Given the description of an element on the screen output the (x, y) to click on. 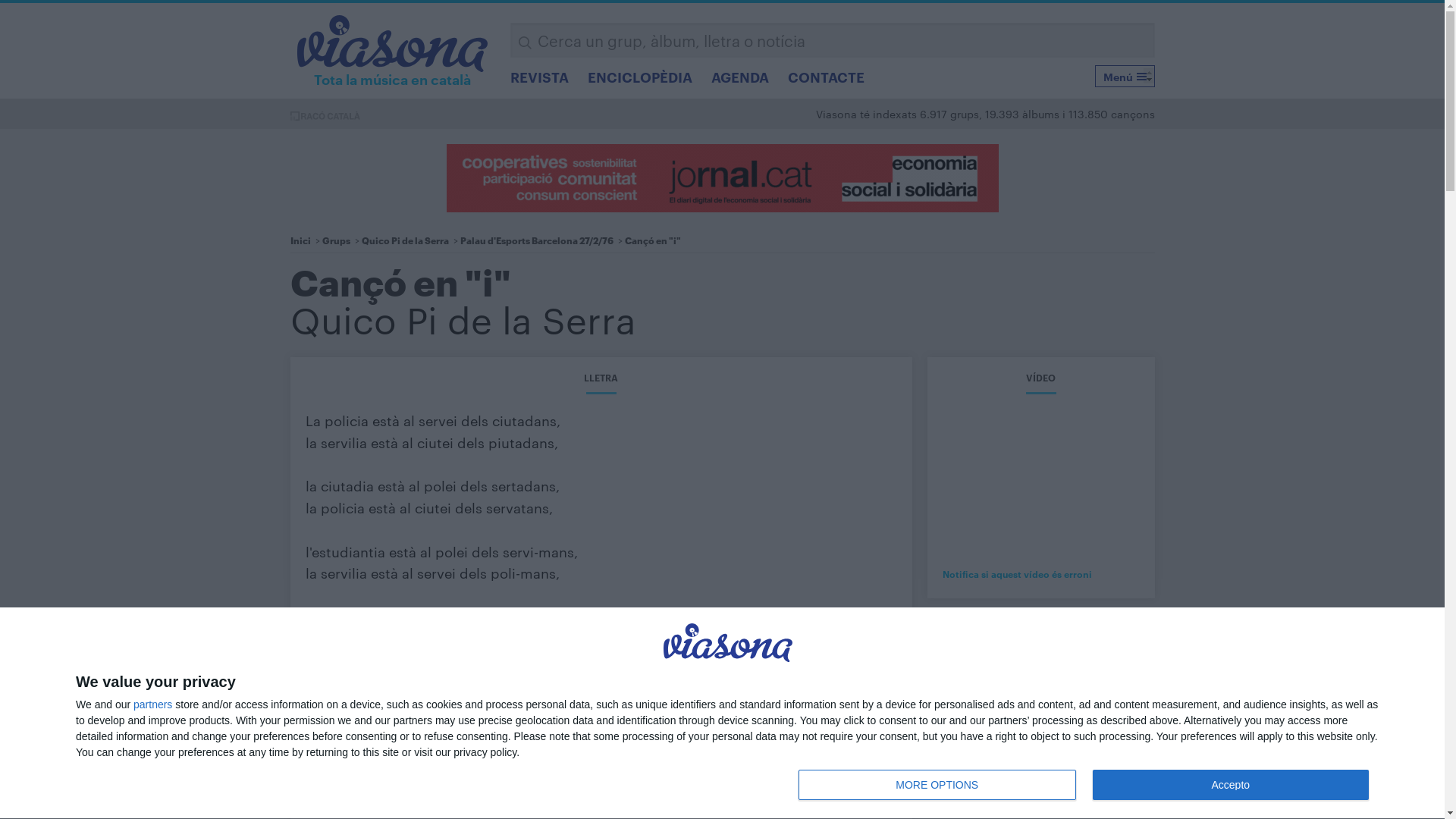
RSS Element type: hover (590, 335)
Big data Element type: text (605, 715)
Qui som Element type: text (850, 792)
Alta Element type: text (1115, 320)
Spotify Element type: hover (696, 306)
Facebook Element type: hover (723, 306)
Contacte Element type: text (924, 792)
CONTACTE Element type: text (825, 76)
partners Element type: text (152, 704)
Grups Element type: text (335, 239)
Envia'ns un grup Element type: text (847, 654)
Quico Pi de la Serra Element type: text (404, 239)
Agenda de concerts Element type: text (638, 654)
Himnes esportius Element type: text (630, 669)
Memory de portades Element type: text (860, 624)
AGENDA Element type: text (739, 76)
REVISTA Element type: text (539, 76)
Envia'ns un concert Element type: text (856, 715)
MORE OPTIONS Element type: text (937, 784)
Instagram Element type: hover (616, 306)
Youtube Element type: hover (669, 306)
Quico Pi de la Serra Element type: text (462, 318)
Twitter Element type: hover (590, 306)
Goigs Element type: text (599, 700)
Anchor Element type: hover (749, 306)
Inici Element type: text (299, 239)
Accepto Element type: text (1230, 784)
Palau d'Esports Barcelona 27/2/76 Element type: text (535, 239)
Envia'ns una lletra Element type: text (851, 685)
Revista Element type: text (602, 624)
Envia'ns un himne Element type: text (851, 700)
TikTok Element type: hover (643, 306)
